Given the description of an element on the screen output the (x, y) to click on. 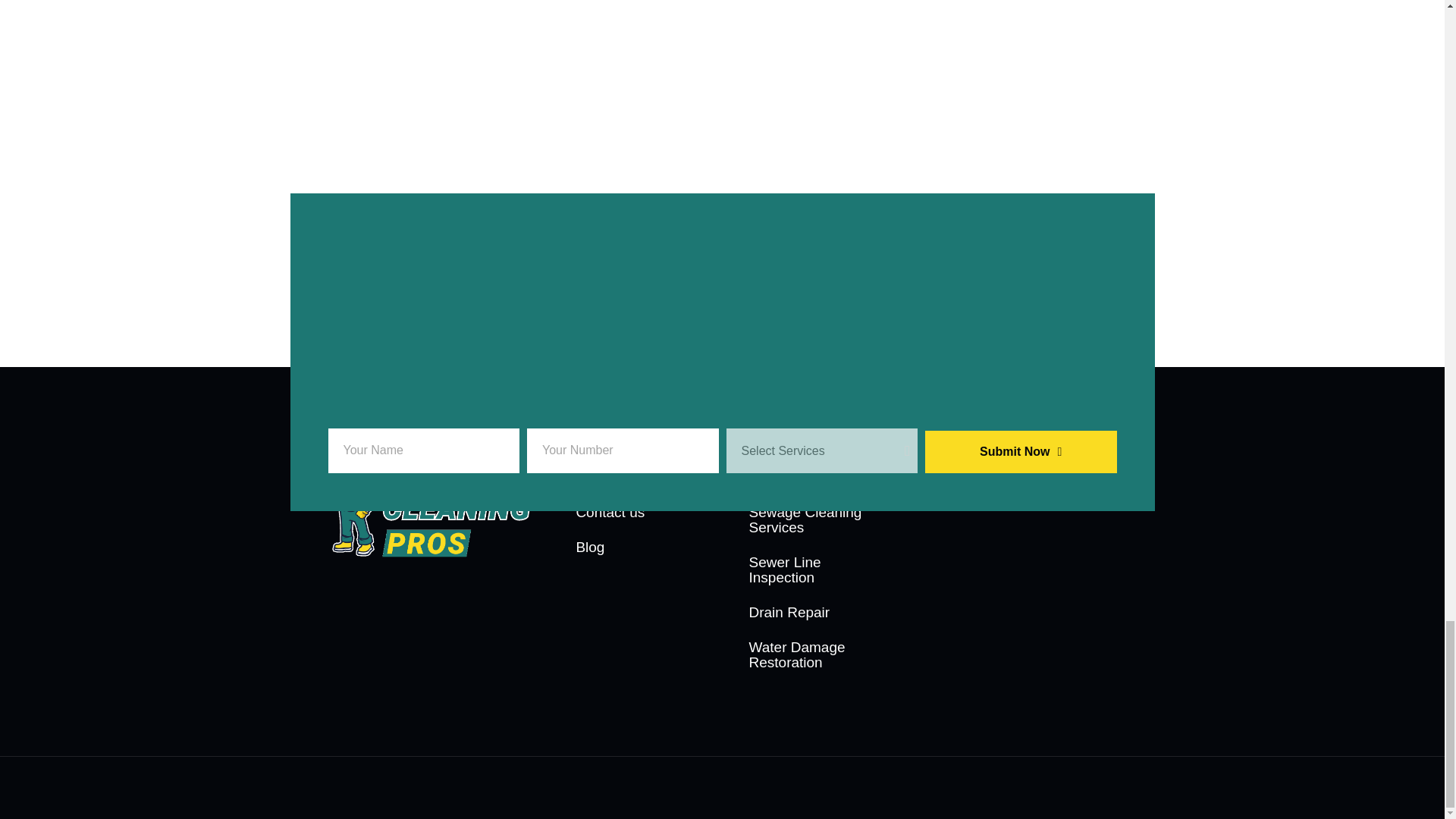
Submit Now (1020, 451)
Contact us (635, 512)
Blog (635, 547)
